Given the description of an element on the screen output the (x, y) to click on. 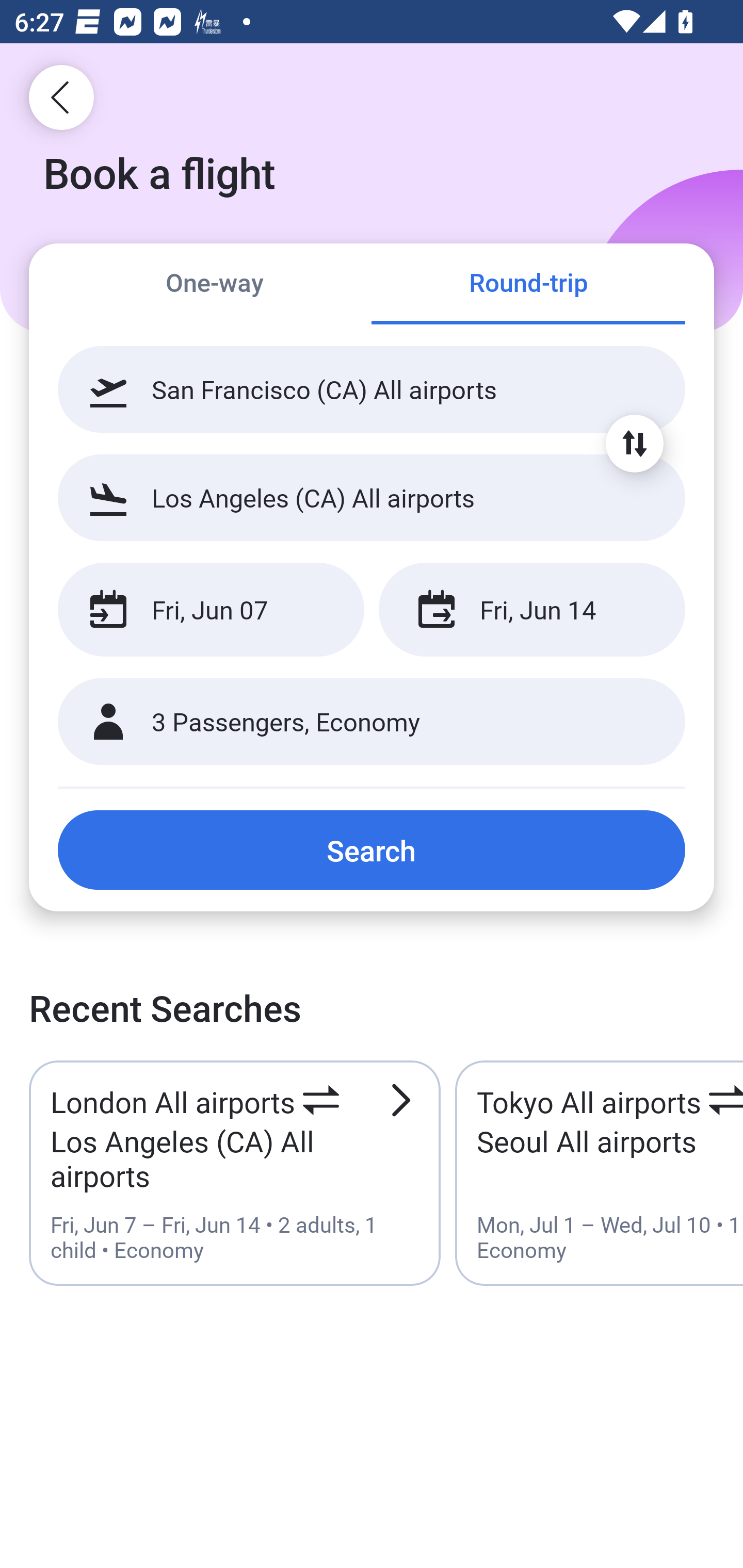
One-way (214, 284)
San Francisco (CA) All airports (371, 389)
Los Angeles (CA) All airports (371, 497)
Fri, Jun 07 (210, 609)
Fri, Jun 14 (531, 609)
3 Passengers, Economy (371, 721)
Search (371, 849)
